Given the description of an element on the screen output the (x, y) to click on. 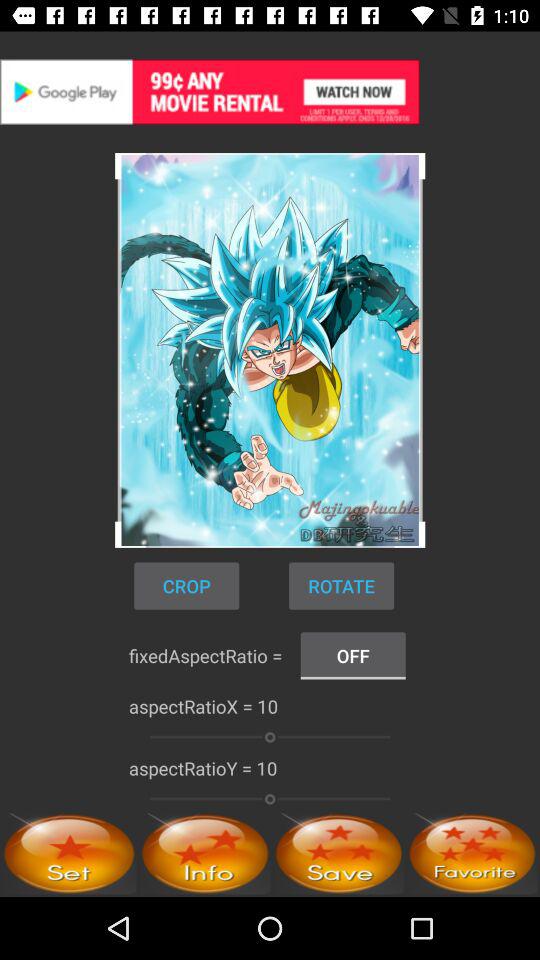
check favorite (472, 853)
